Given the description of an element on the screen output the (x, y) to click on. 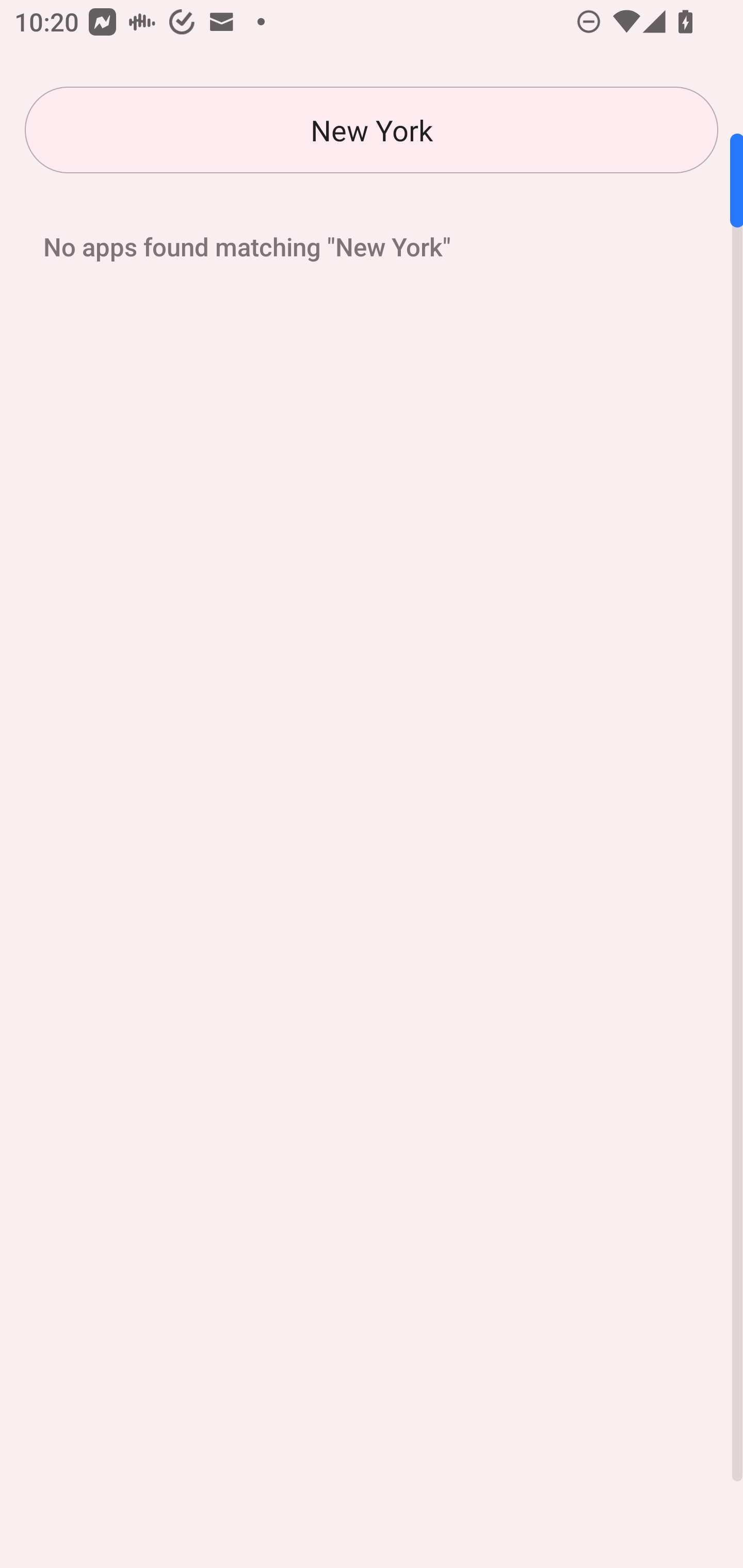
New York (371, 130)
